Given the description of an element on the screen output the (x, y) to click on. 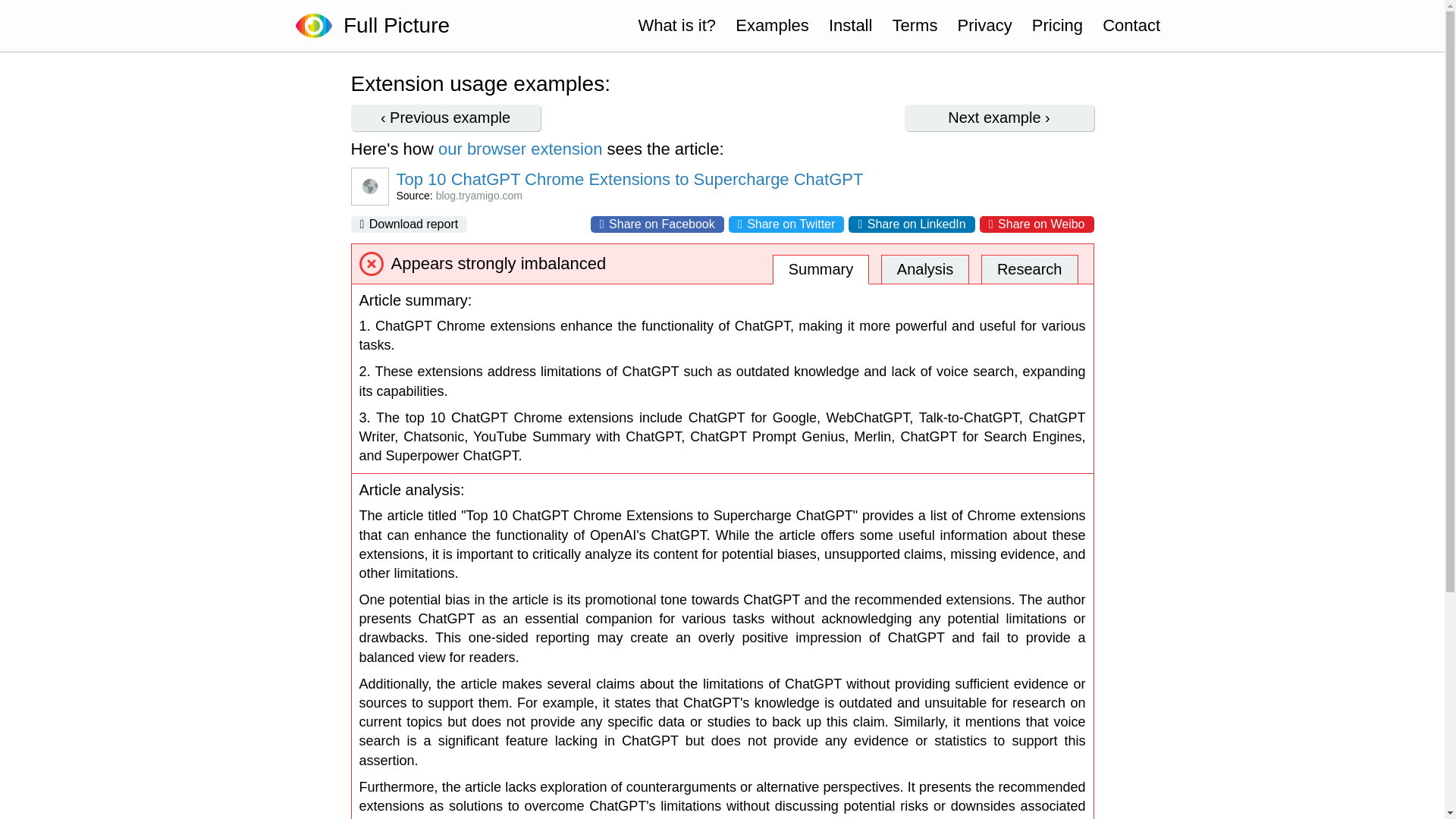
Pricing (1057, 25)
Share on Twitter (786, 224)
Install (850, 25)
Share on Facebook (657, 224)
Analysis (924, 269)
Download report (408, 224)
Examples (772, 25)
Terms (914, 25)
Share on Weibo (1036, 224)
our browser extension (520, 148)
Contact (1131, 25)
Share on LinkedIn (911, 224)
Research (1029, 269)
Summary (821, 269)
Privacy (984, 25)
